Given the description of an element on the screen output the (x, y) to click on. 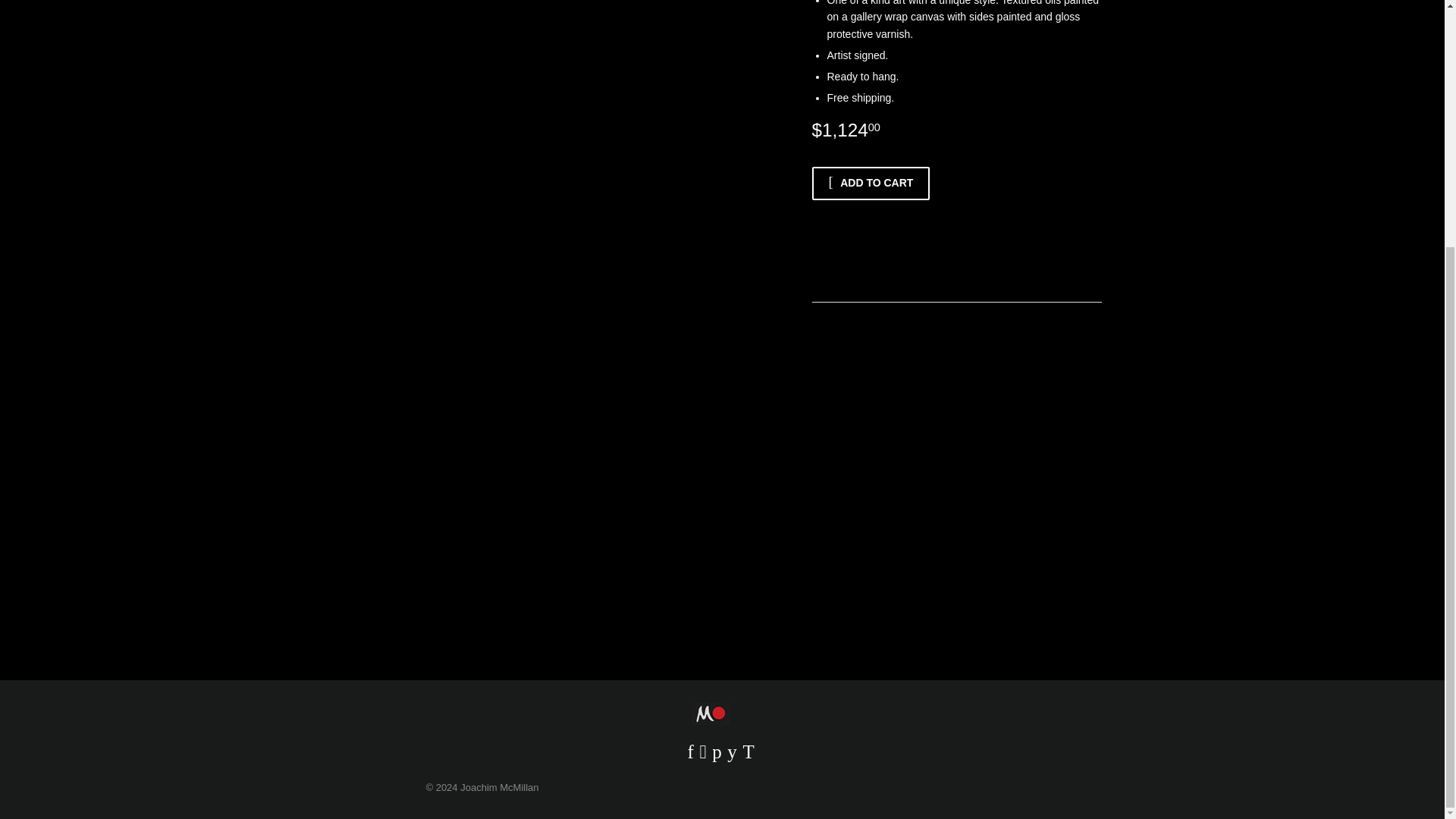
ADD TO CART (870, 183)
Joachim McMillan no Twitter (748, 754)
